Given the description of an element on the screen output the (x, y) to click on. 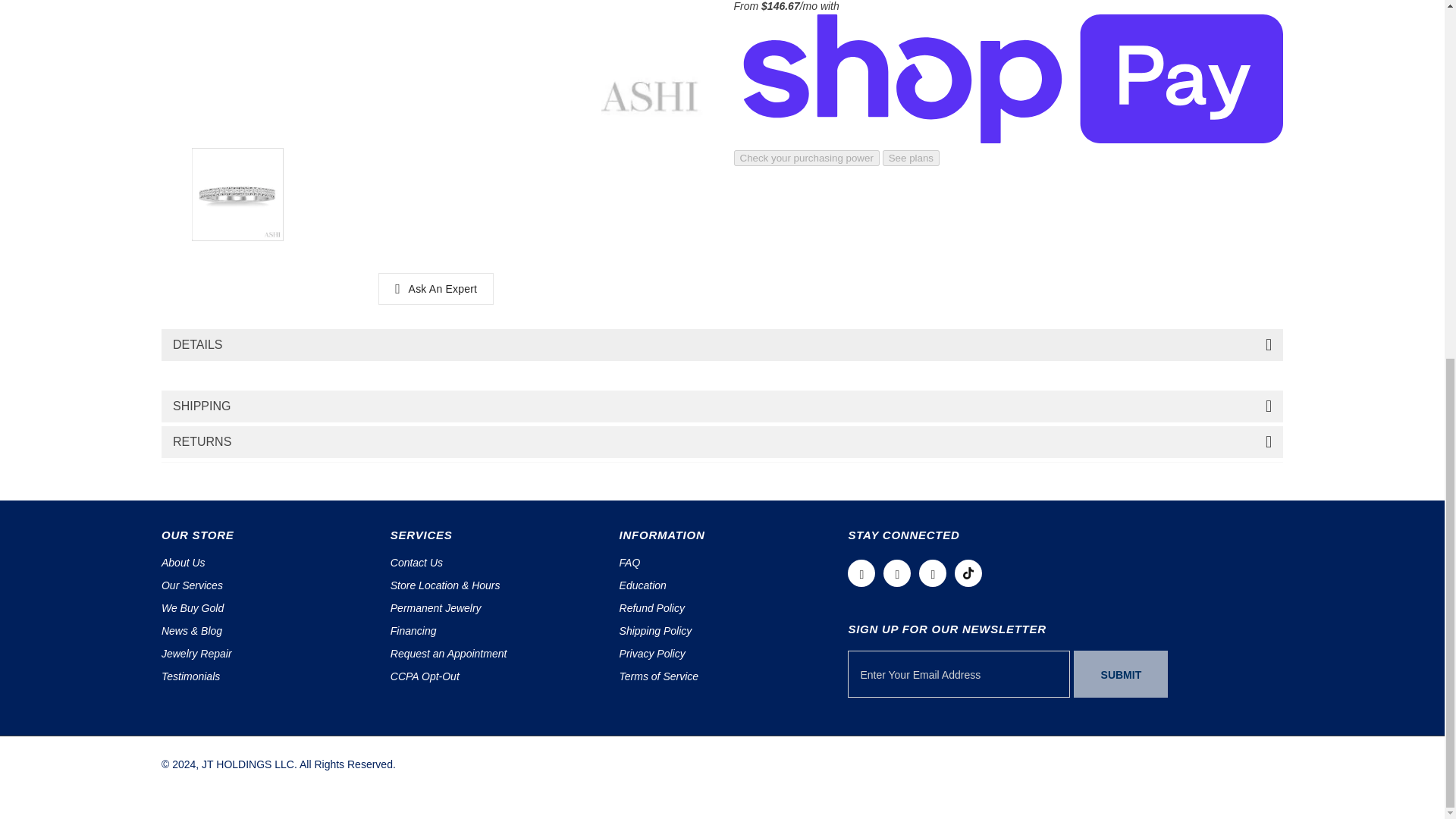
Submit (1120, 673)
